Given the description of an element on the screen output the (x, y) to click on. 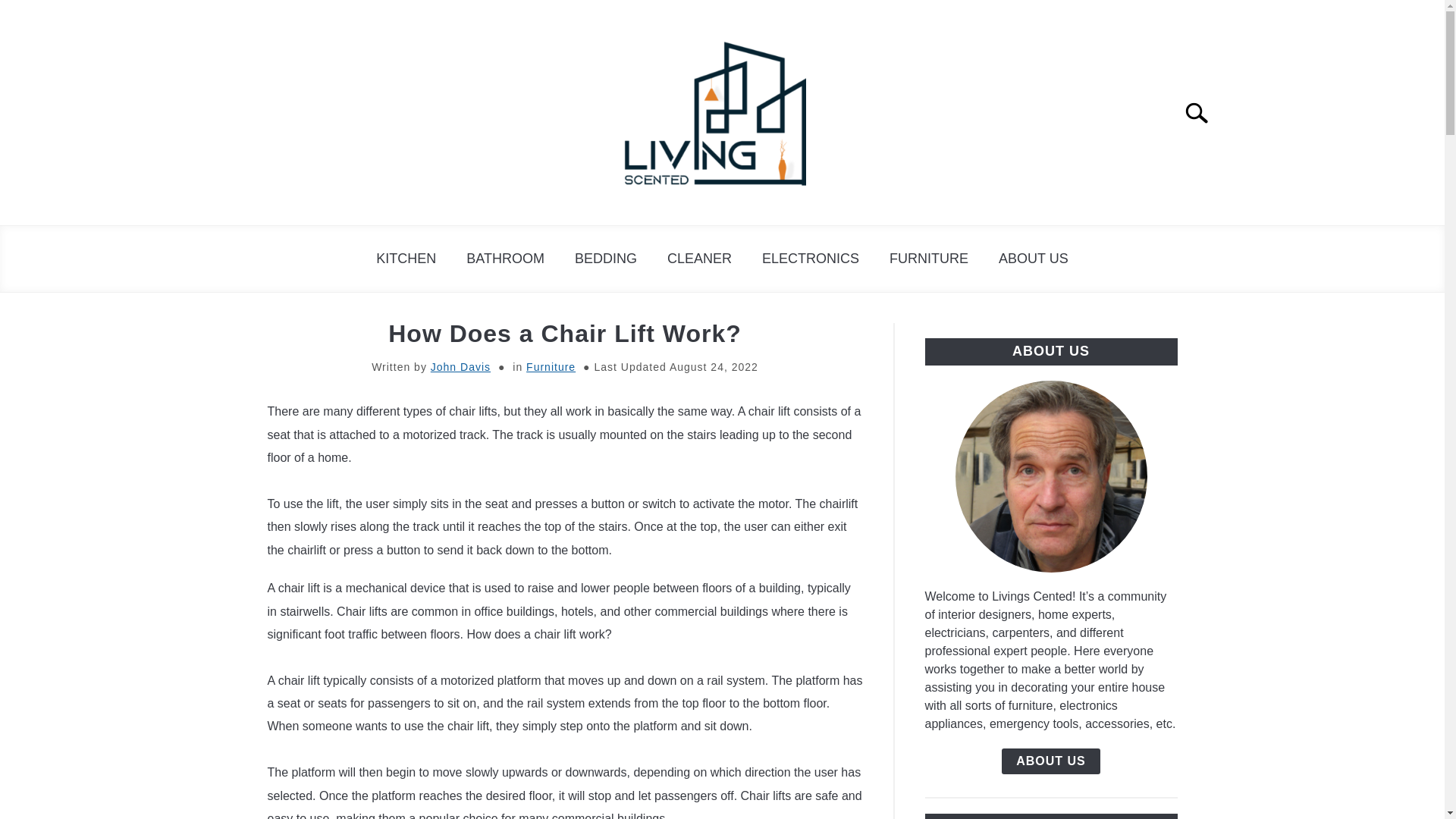
John Davis (460, 367)
BEDDING (605, 258)
BATHROOM (505, 258)
ABOUT US (1033, 258)
Furniture (550, 367)
ABOUT US (1050, 760)
Search (1203, 112)
KITCHEN (406, 258)
FURNITURE (929, 258)
CLEANER (699, 258)
